Given the description of an element on the screen output the (x, y) to click on. 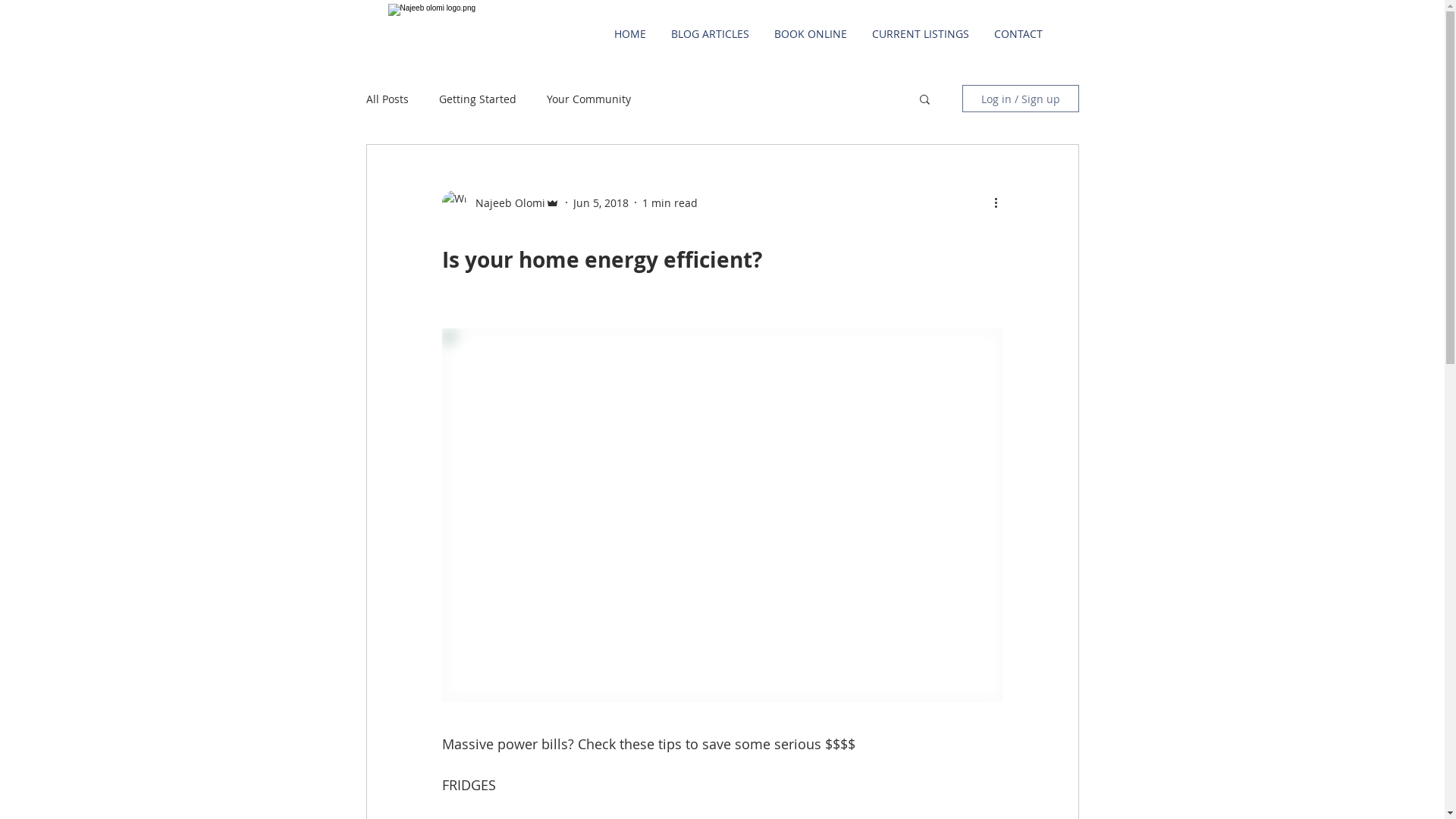
Log in / Sign up Element type: text (1019, 98)
All Posts Element type: text (386, 98)
CURRENT LISTINGS Element type: text (920, 33)
CONTACT Element type: text (1017, 33)
BOOK ONLINE Element type: text (810, 33)
HOME Element type: text (629, 33)
Your Community Element type: text (588, 98)
Getting Started Element type: text (476, 98)
BLOG ARTICLES Element type: text (709, 33)
